Given the description of an element on the screen output the (x, y) to click on. 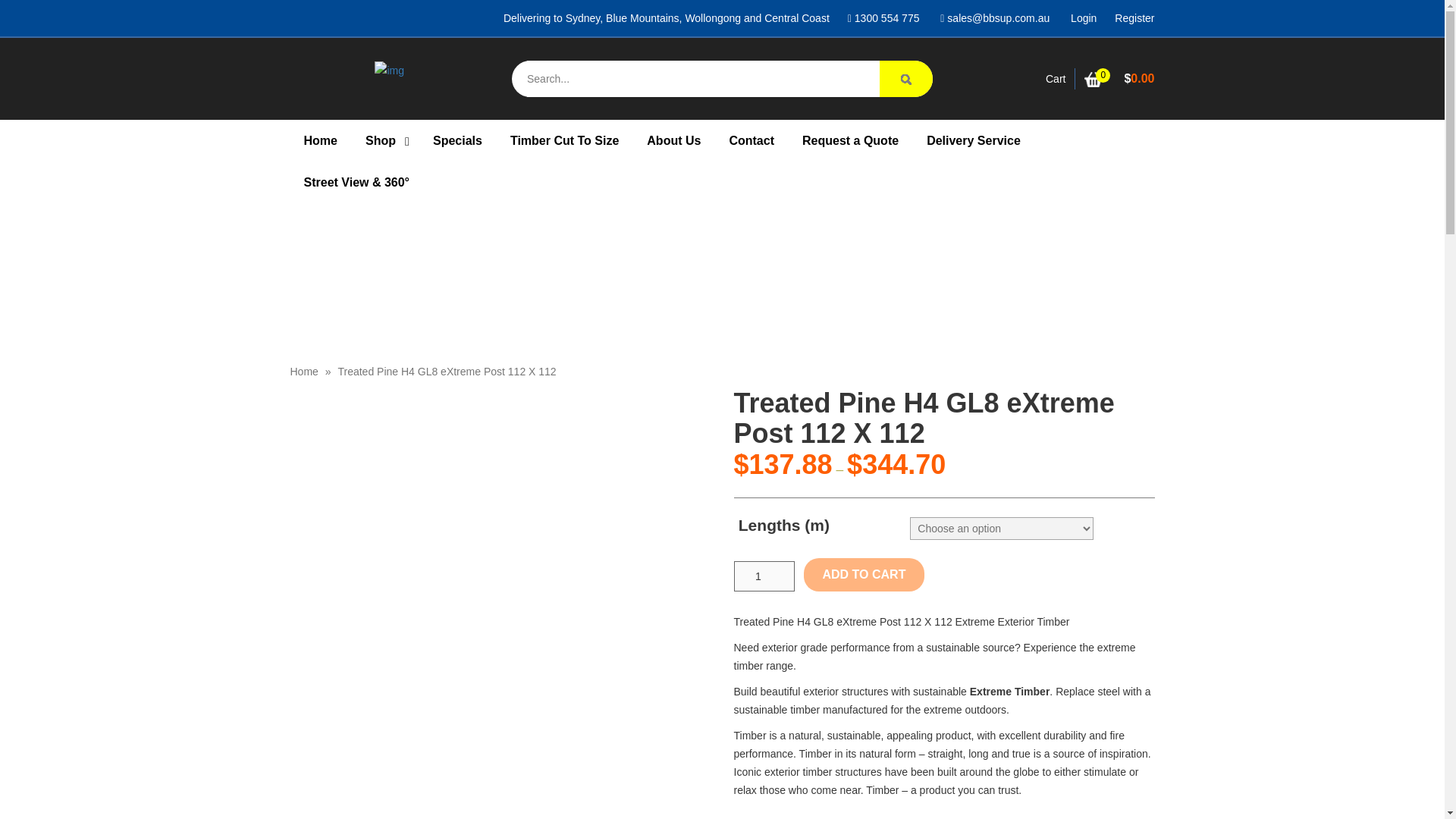
Contact (750, 140)
Delivery Service (972, 140)
About Us (673, 140)
Specials (457, 140)
Timber Cut To Size (563, 140)
ADD TO CART (863, 574)
View your shopping cart (1119, 78)
Login (1083, 18)
1 (763, 576)
1300 554 775 (883, 18)
Home (303, 371)
View your quote (1055, 78)
Home (319, 140)
Cart (1055, 78)
